Given the description of an element on the screen output the (x, y) to click on. 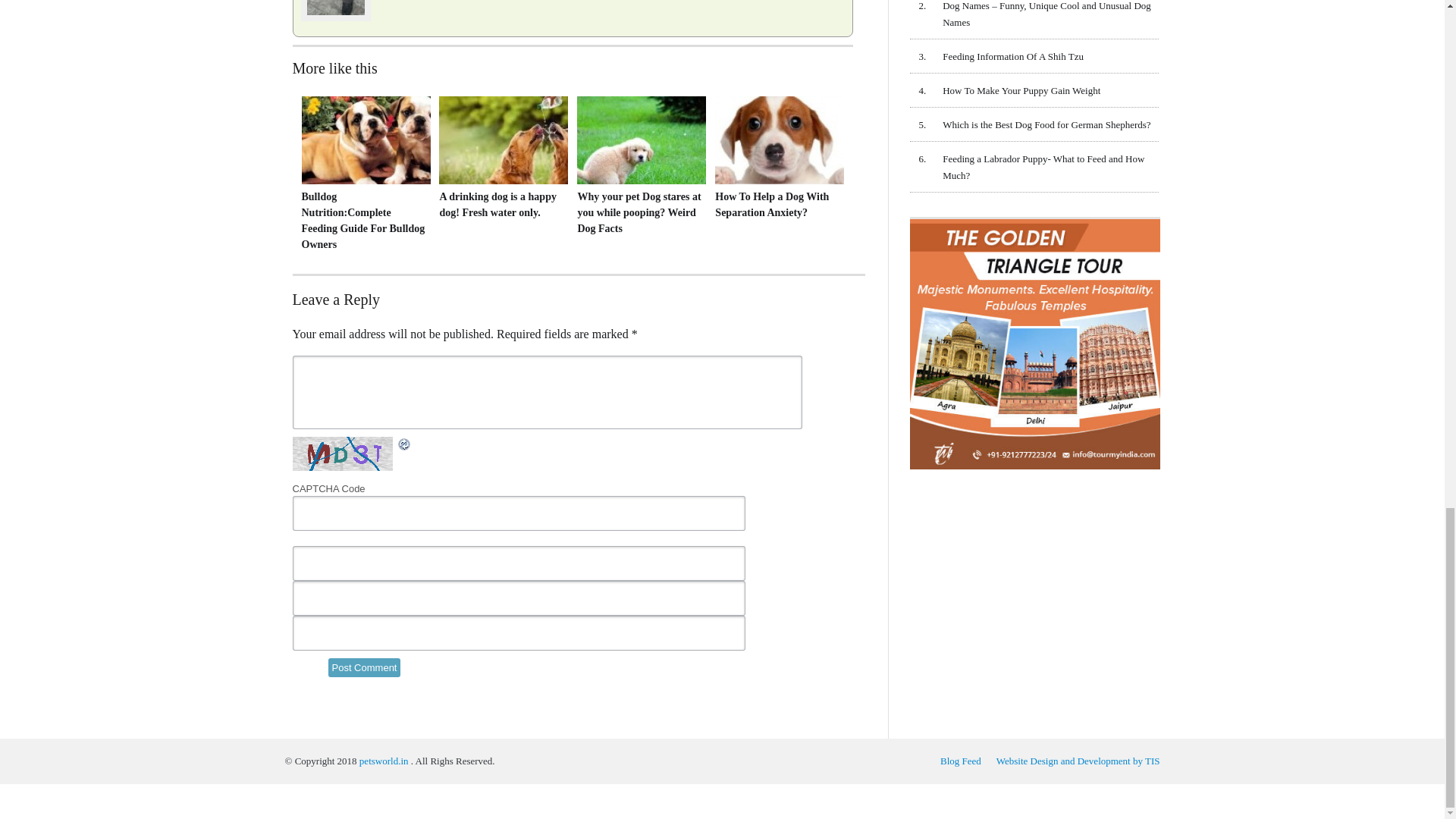
Bulldog Nutrition:Complete Feeding Guide For Bulldog Owners (364, 220)
A drinking dog is a happy dog! Fresh water only. (502, 204)
Post Comment (363, 667)
Refresh Image (404, 444)
CAPTCHA Image (344, 453)
